Given the description of an element on the screen output the (x, y) to click on. 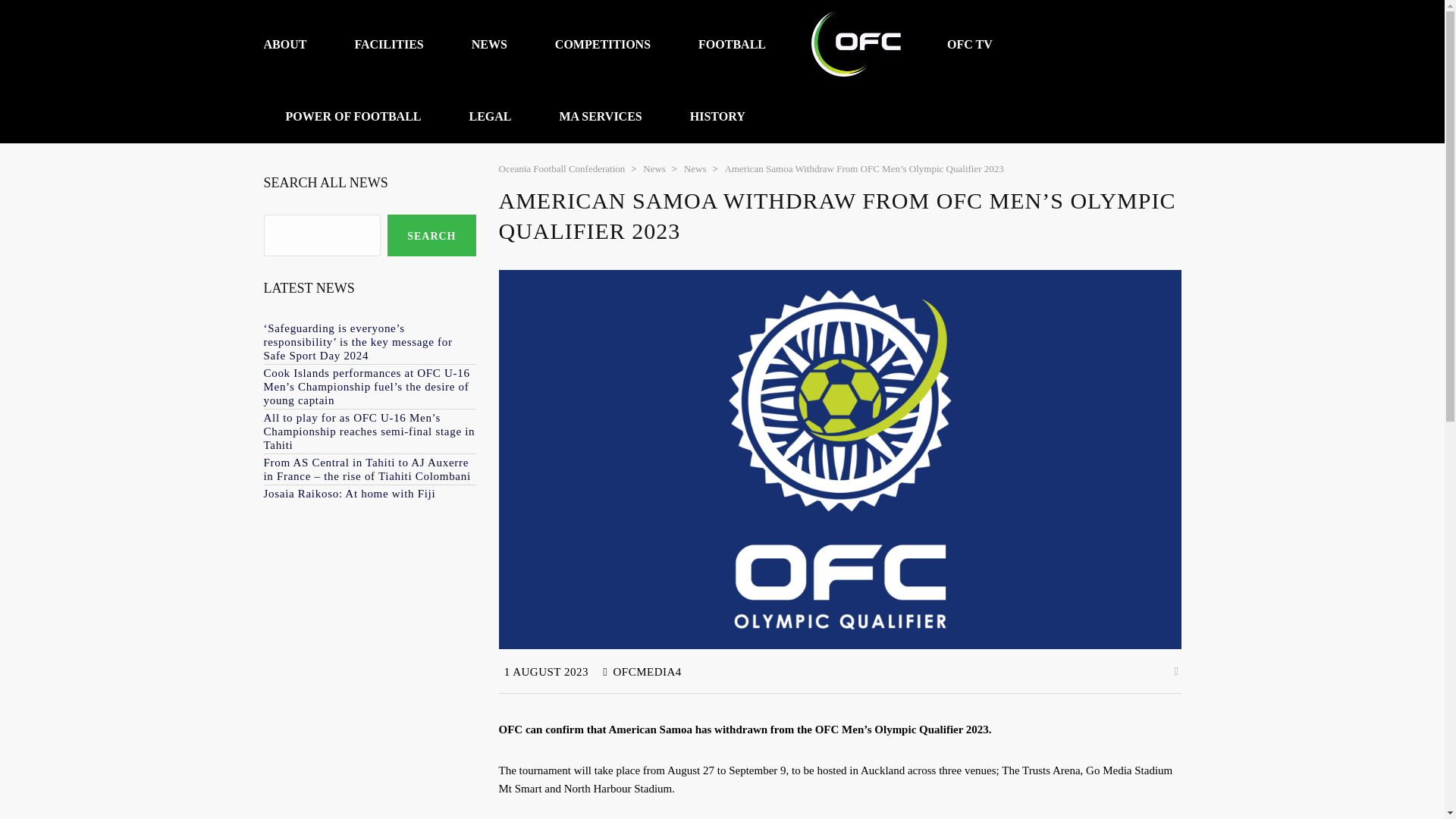
Go to Oceania Football Confederation. (562, 168)
ABOUT (296, 44)
NEWS (489, 44)
Go to the News Category archives. (695, 168)
FACILITIES (388, 44)
Go to News. (654, 168)
COMPETITIONS (602, 44)
